Given the description of an element on the screen output the (x, y) to click on. 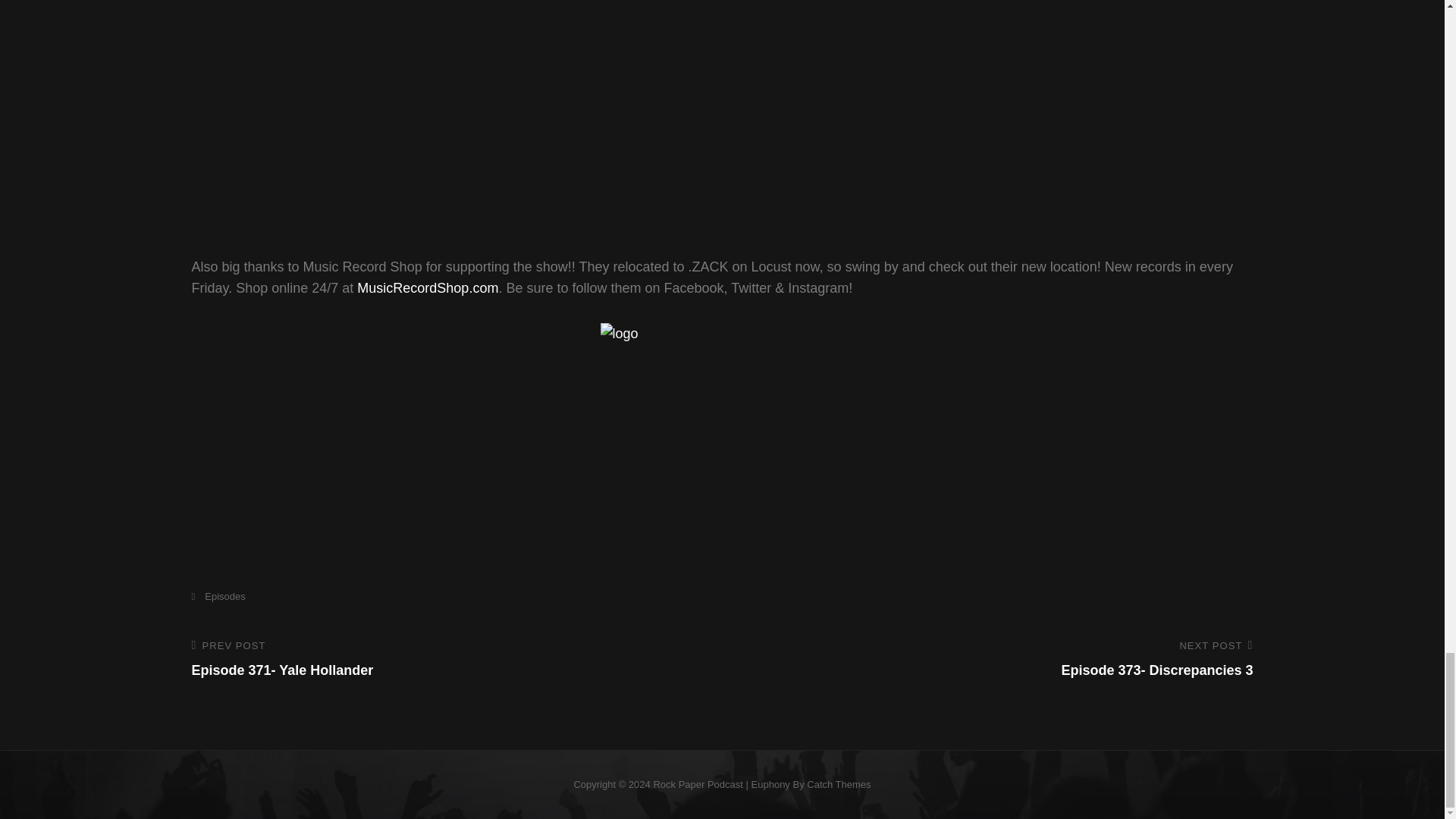
Rock Paper Podcast (697, 784)
MusicRecordShop.com (997, 659)
Episodes (426, 287)
Catch Themes (217, 595)
